Given the description of an element on the screen output the (x, y) to click on. 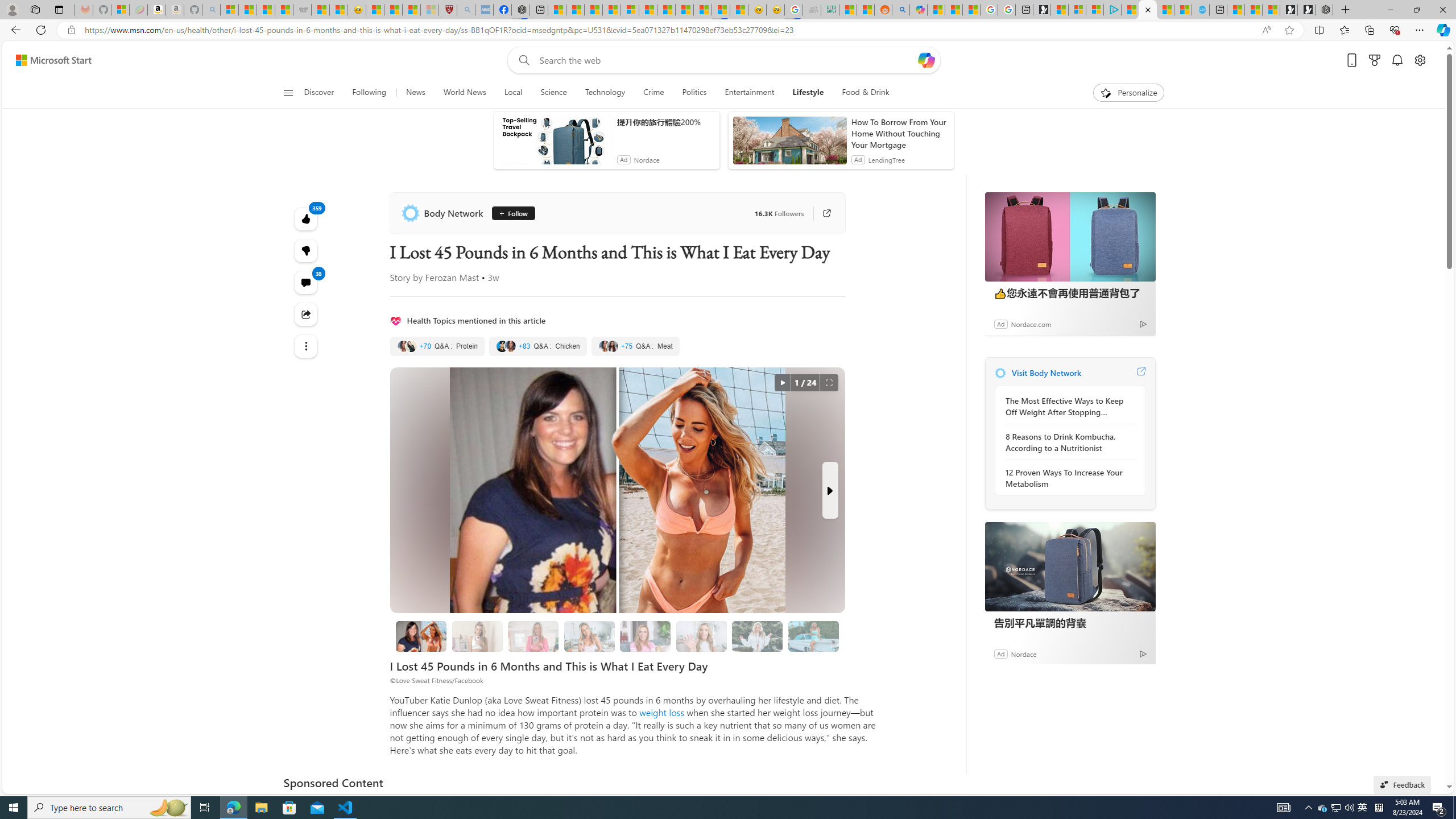
View comments 38 Comment (305, 282)
Microsoft Copilot in Bing (917, 9)
Chicken (537, 346)
